Given the description of an element on the screen output the (x, y) to click on. 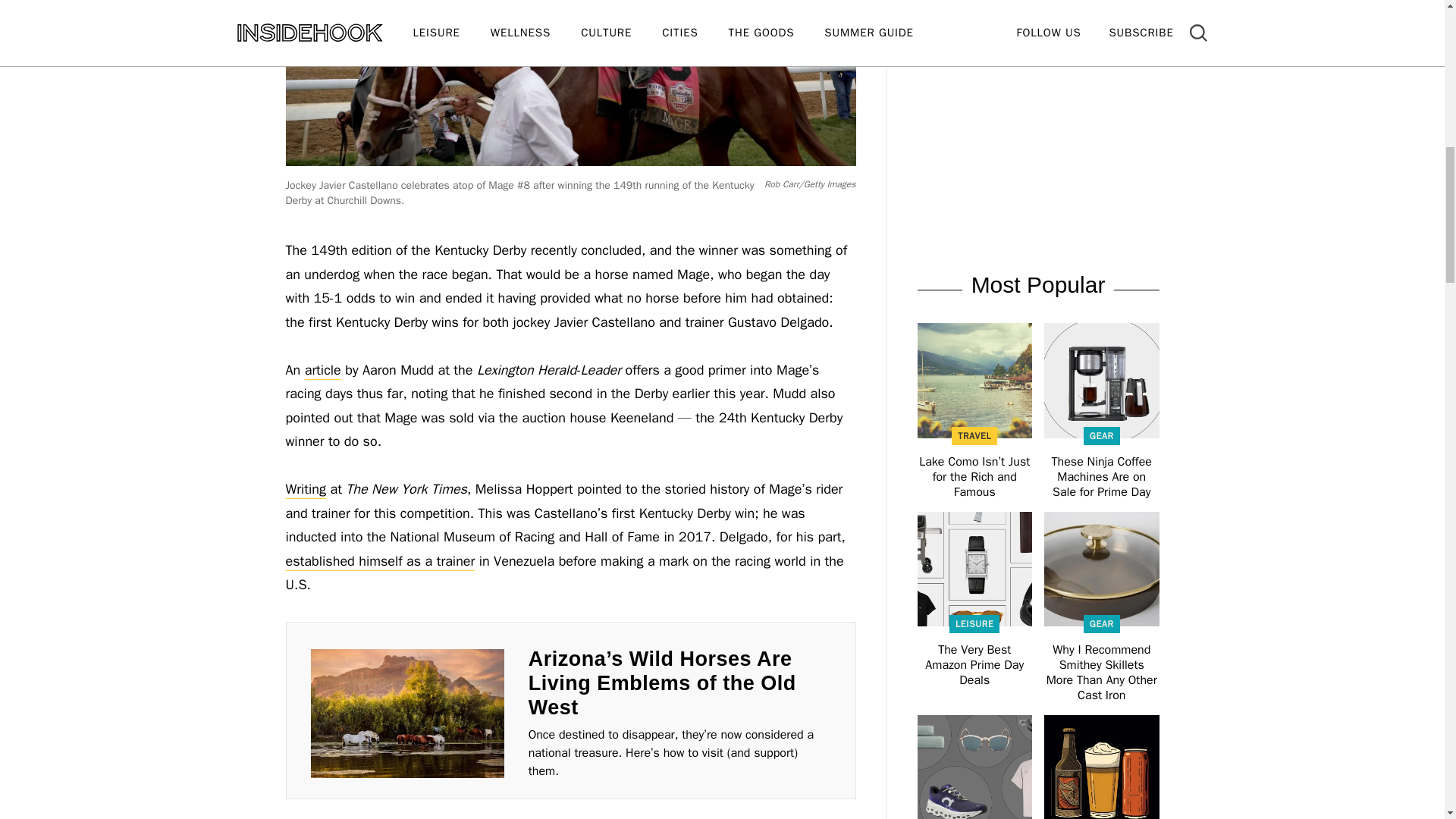
3rd party ad content (1037, 36)
